Given the description of an element on the screen output the (x, y) to click on. 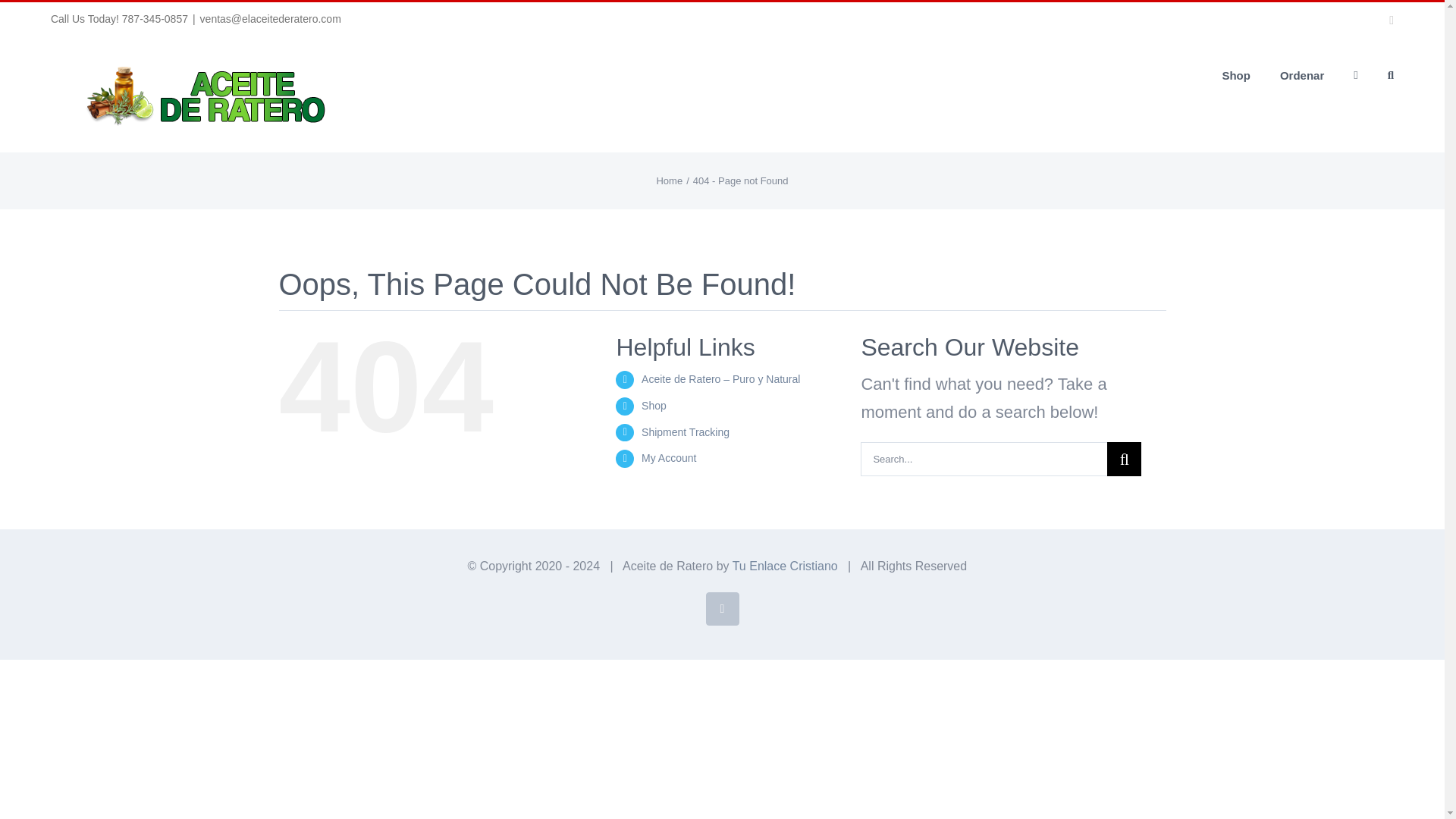
Home (669, 180)
Facebook (721, 608)
Shop (654, 405)
Shipment Tracking (685, 431)
Tu Enlace Cristiano (785, 565)
My Account (668, 458)
Facebook (721, 608)
